Given the description of an element on the screen output the (x, y) to click on. 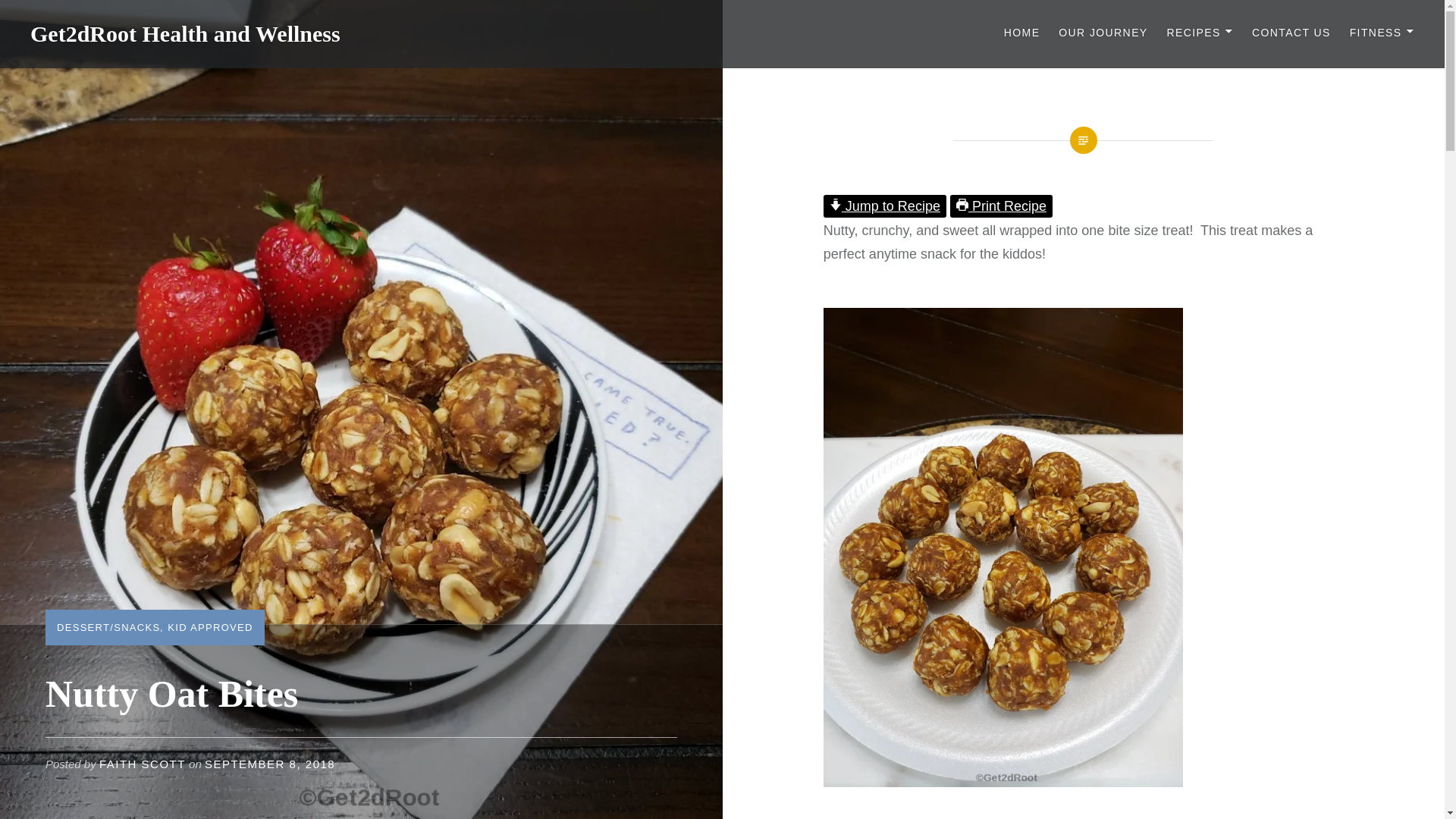
OUR JOURNEY (1102, 32)
Jump to Recipe (885, 205)
FAITH SCOTT (142, 763)
KID APPROVED (209, 627)
CONTACT US (1291, 32)
RECIPES (1199, 32)
Print Recipe (1001, 205)
SEPTEMBER 8, 2018 (269, 763)
FITNESS (1381, 32)
Get2dRoot Health and Wellness (185, 33)
